Given the description of an element on the screen output the (x, y) to click on. 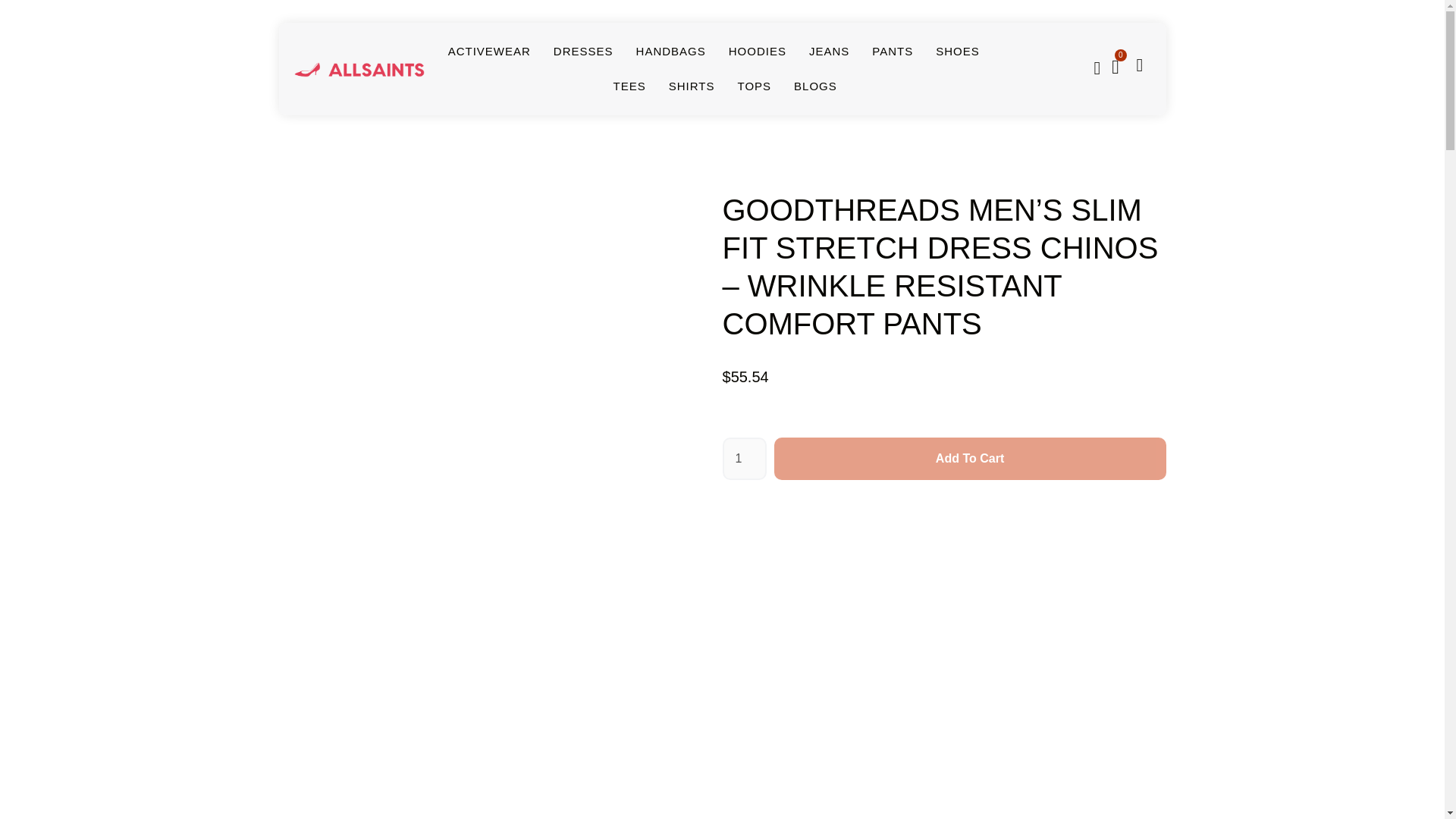
SHIRTS (691, 86)
1 (743, 458)
HOODIES (757, 51)
DRESSES (582, 51)
Add To Cart (970, 458)
JEANS (828, 51)
BLOGS (815, 86)
PANTS (892, 51)
TOPS (753, 86)
ACTIVEWEAR (489, 51)
